Given the description of an element on the screen output the (x, y) to click on. 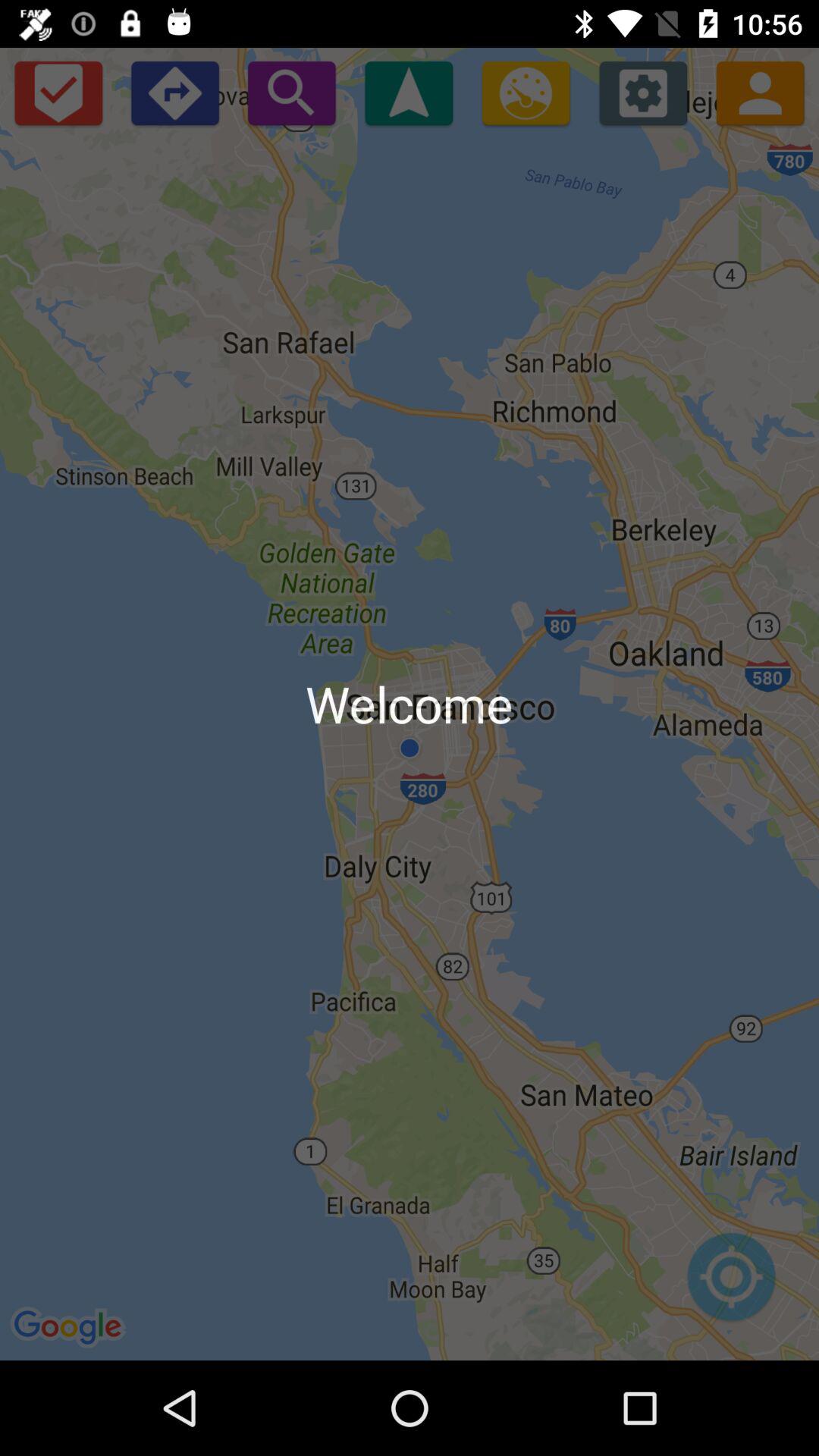
navigate (408, 92)
